Given the description of an element on the screen output the (x, y) to click on. 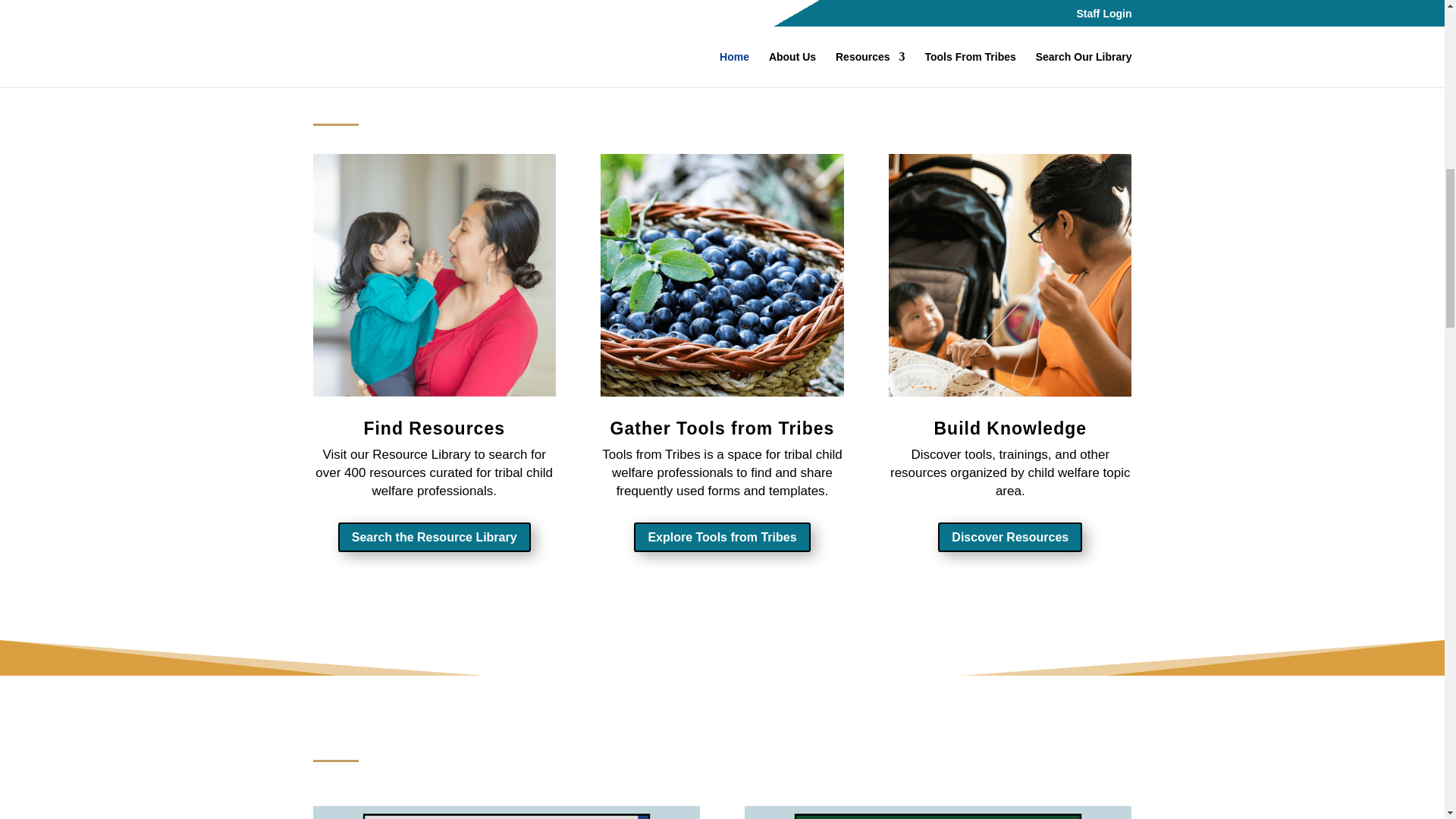
preventionbrief (505, 812)
3 (433, 274)
Search the Resource Library (434, 537)
2 (721, 274)
Discover Resources (1009, 537)
1 (1009, 274)
pathwaytoprevention (937, 812)
Explore Tools from Tribes (721, 537)
